Given the description of an element on the screen output the (x, y) to click on. 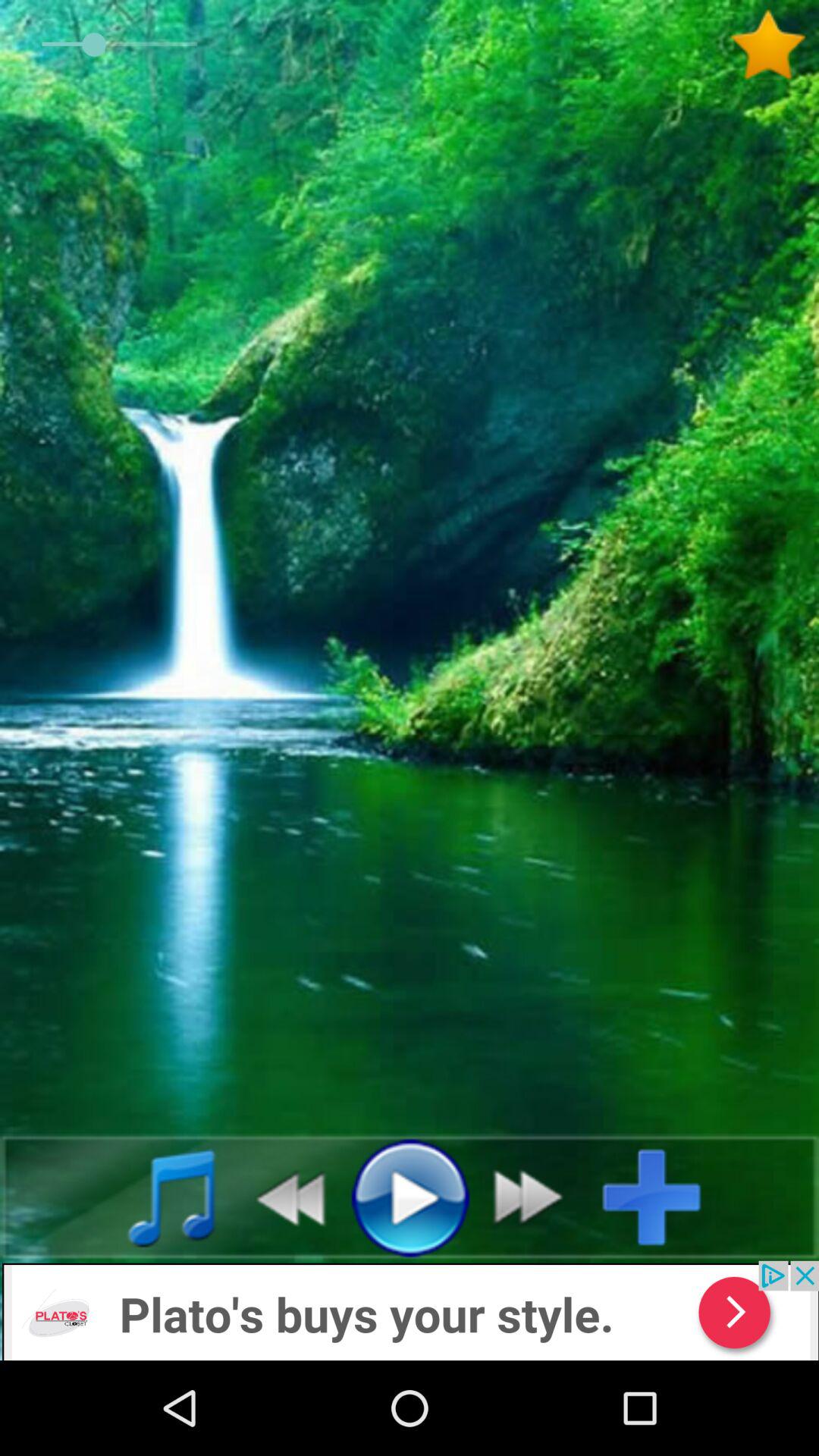
play (409, 1196)
